Given the description of an element on the screen output the (x, y) to click on. 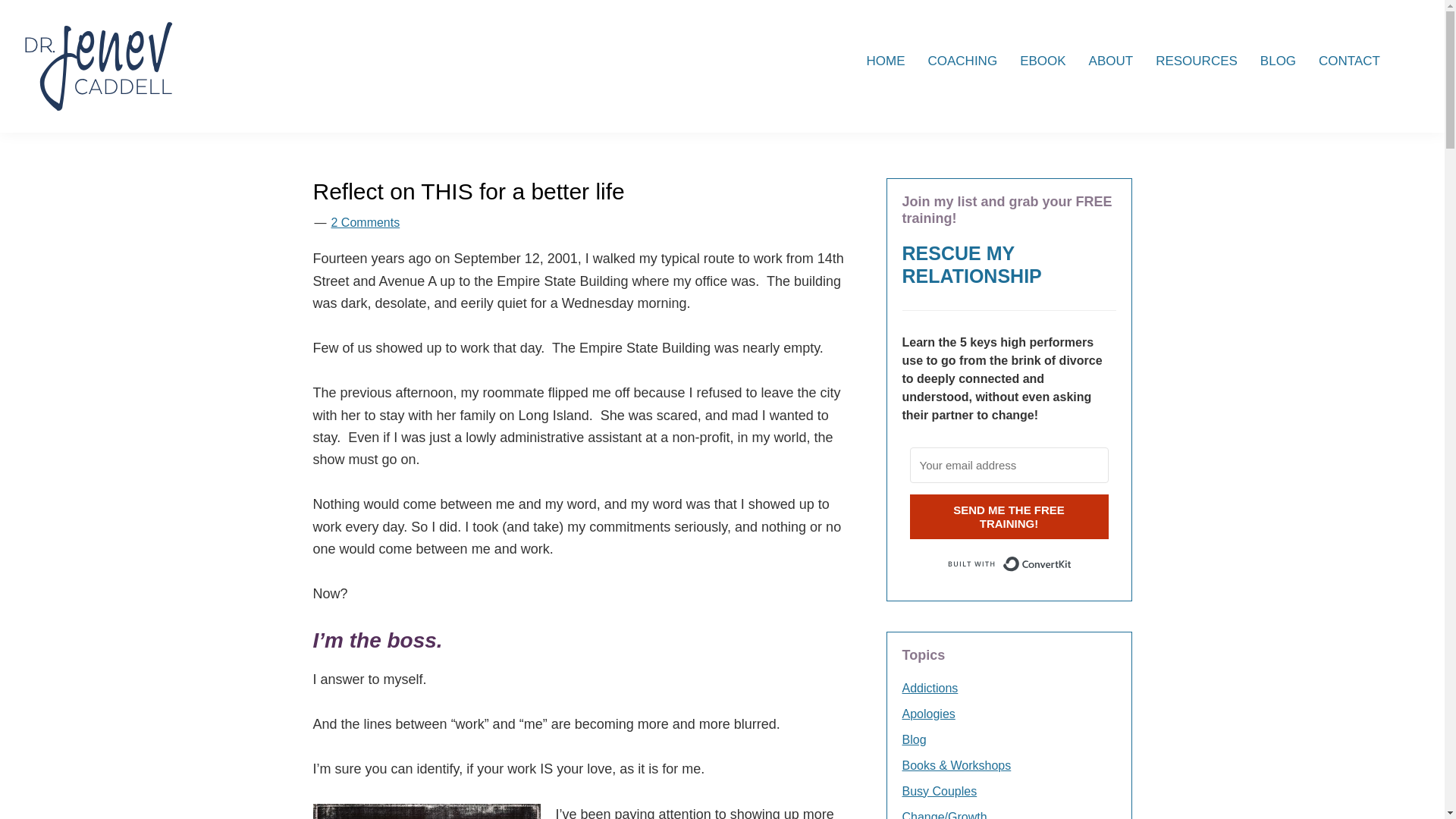
Built with ConvertKit (1008, 564)
ABOUT (1110, 60)
Apologies (928, 713)
COACHING (962, 60)
Addictions (930, 687)
HOME (886, 60)
RESOURCES (1196, 60)
Busy Couples (939, 790)
2 Comments (364, 222)
BLOG (1278, 60)
SEND ME THE FREE TRAINING! (1009, 516)
CONTACT (1349, 60)
Blog (914, 739)
EBOOK (1043, 60)
